Given the description of an element on the screen output the (x, y) to click on. 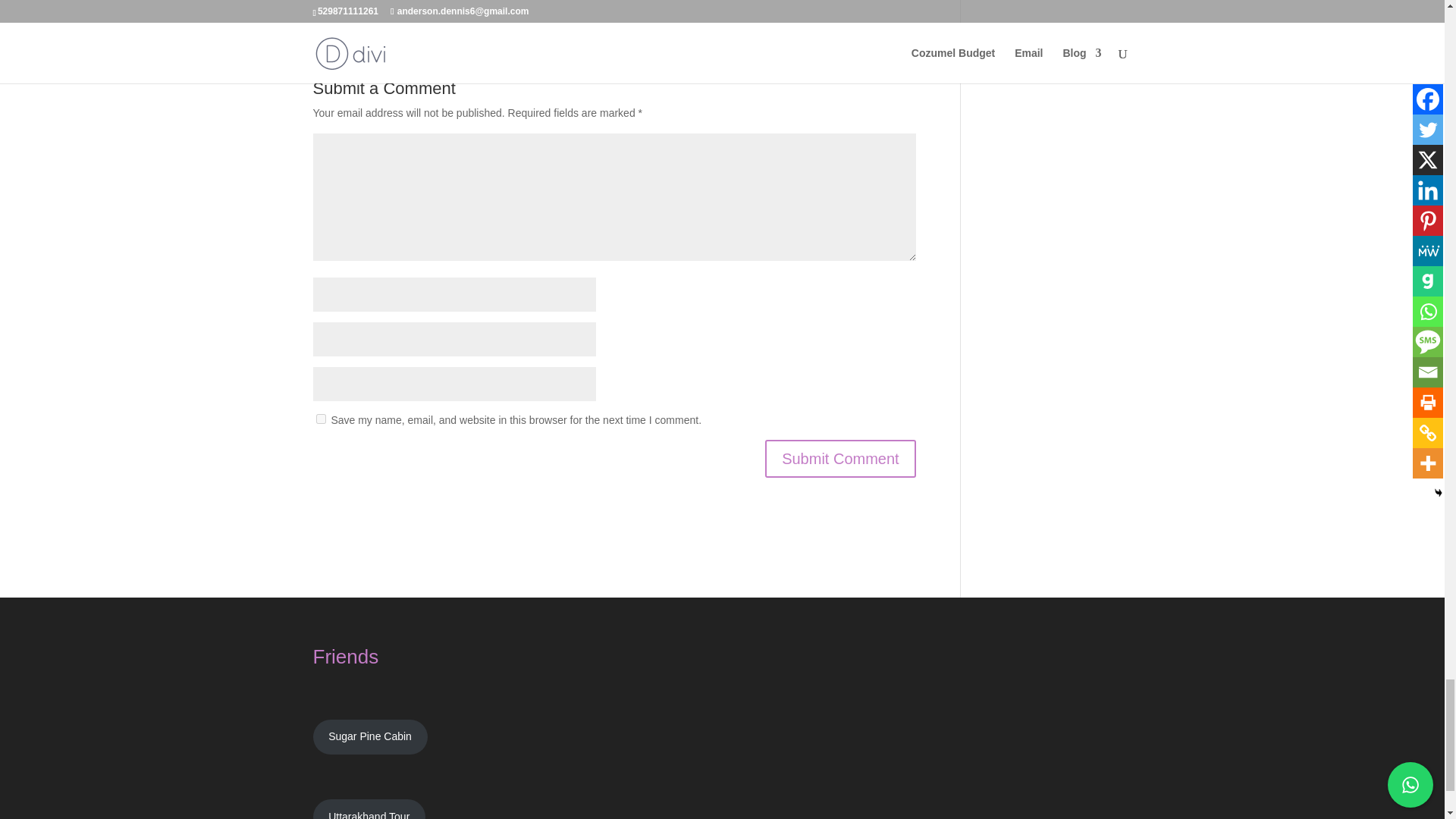
yes (319, 419)
Submit Comment (840, 458)
